Given the description of an element on the screen output the (x, y) to click on. 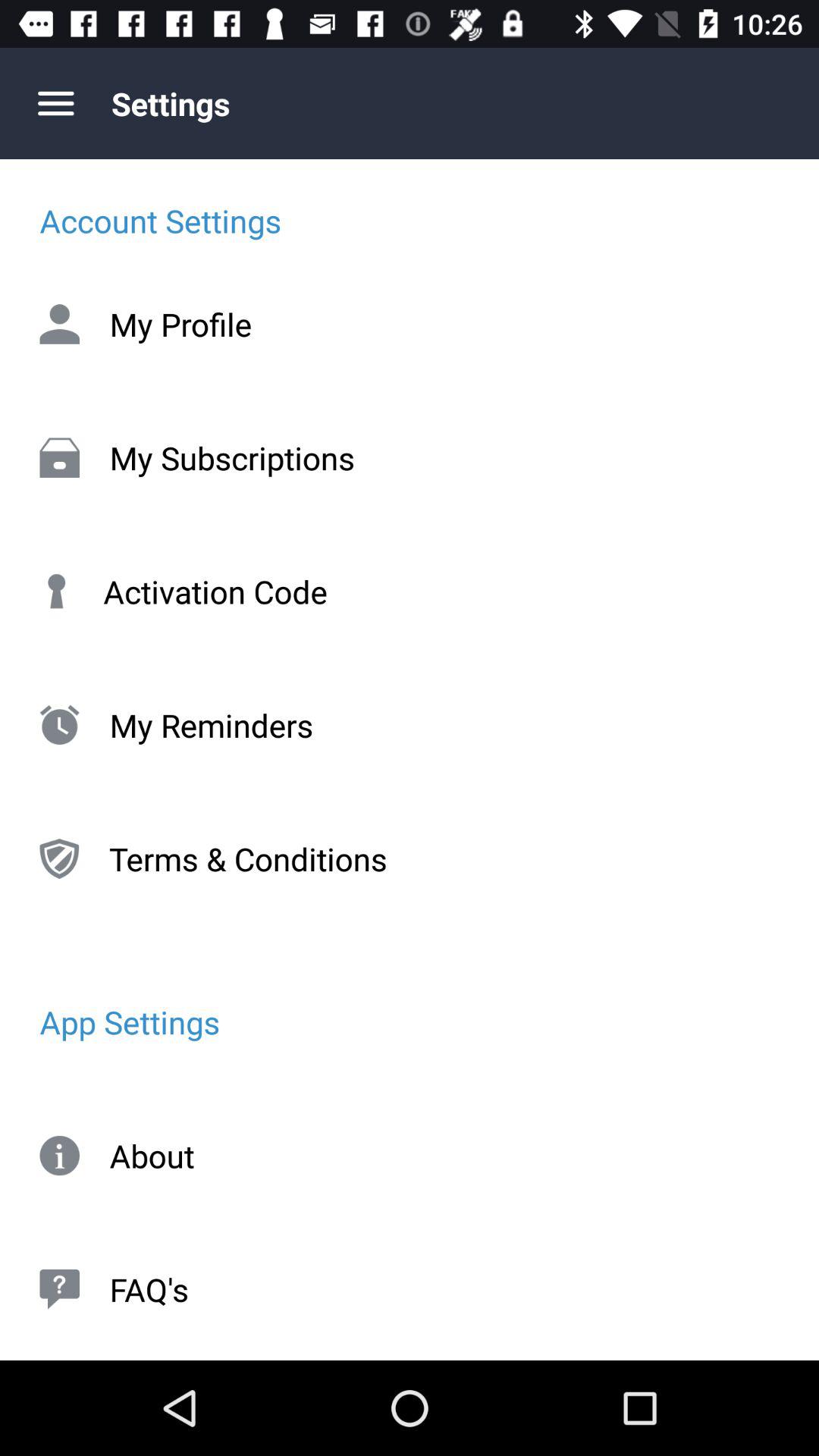
turn on item above the account settings item (55, 103)
